Given the description of an element on the screen output the (x, y) to click on. 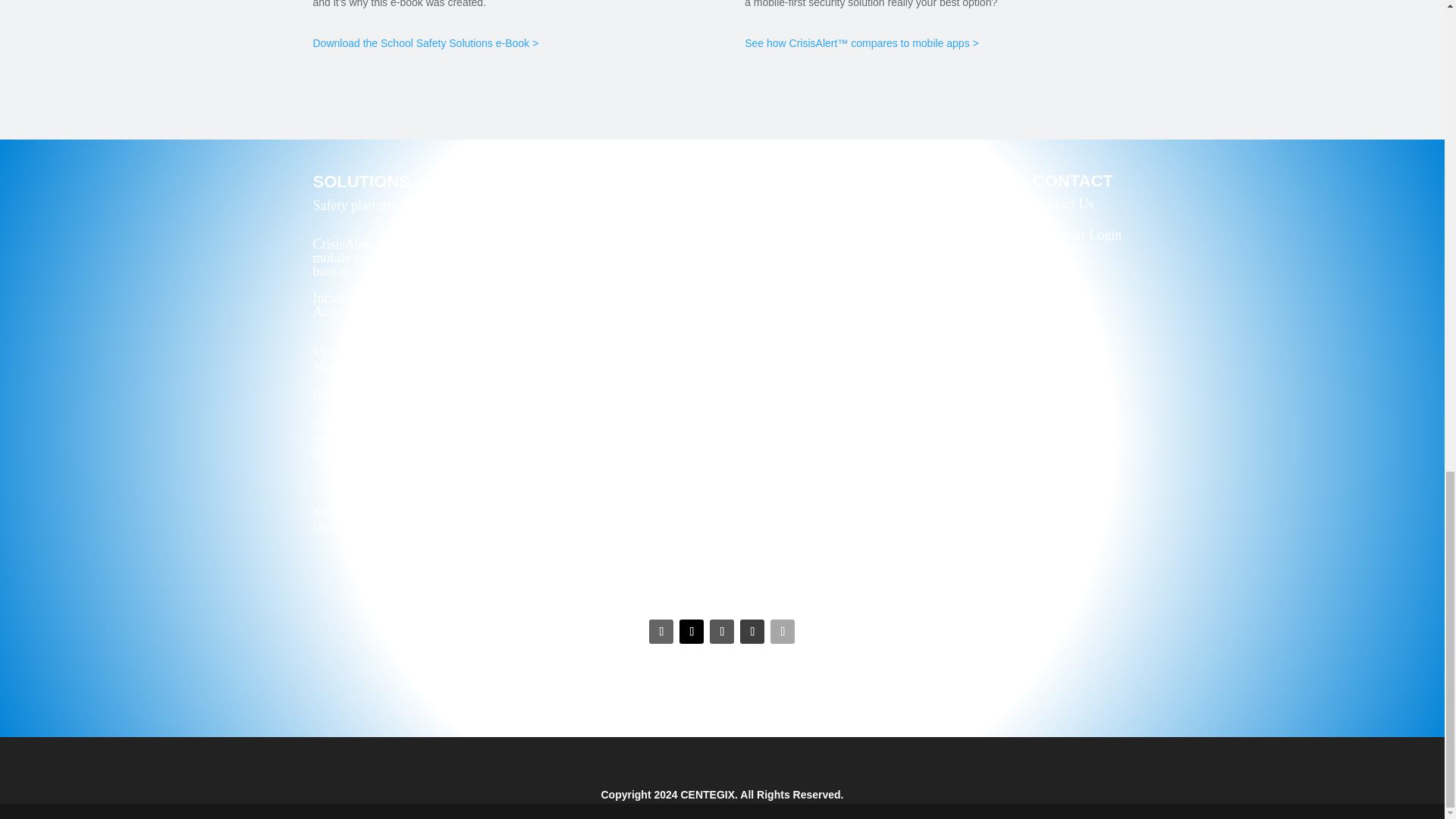
Follow on Facebook (721, 631)
Follow on Youtube (751, 631)
Follow on Vimeo (782, 631)
Follow on LinkedIn (660, 631)
Follow on X (691, 631)
